Given the description of an element on the screen output the (x, y) to click on. 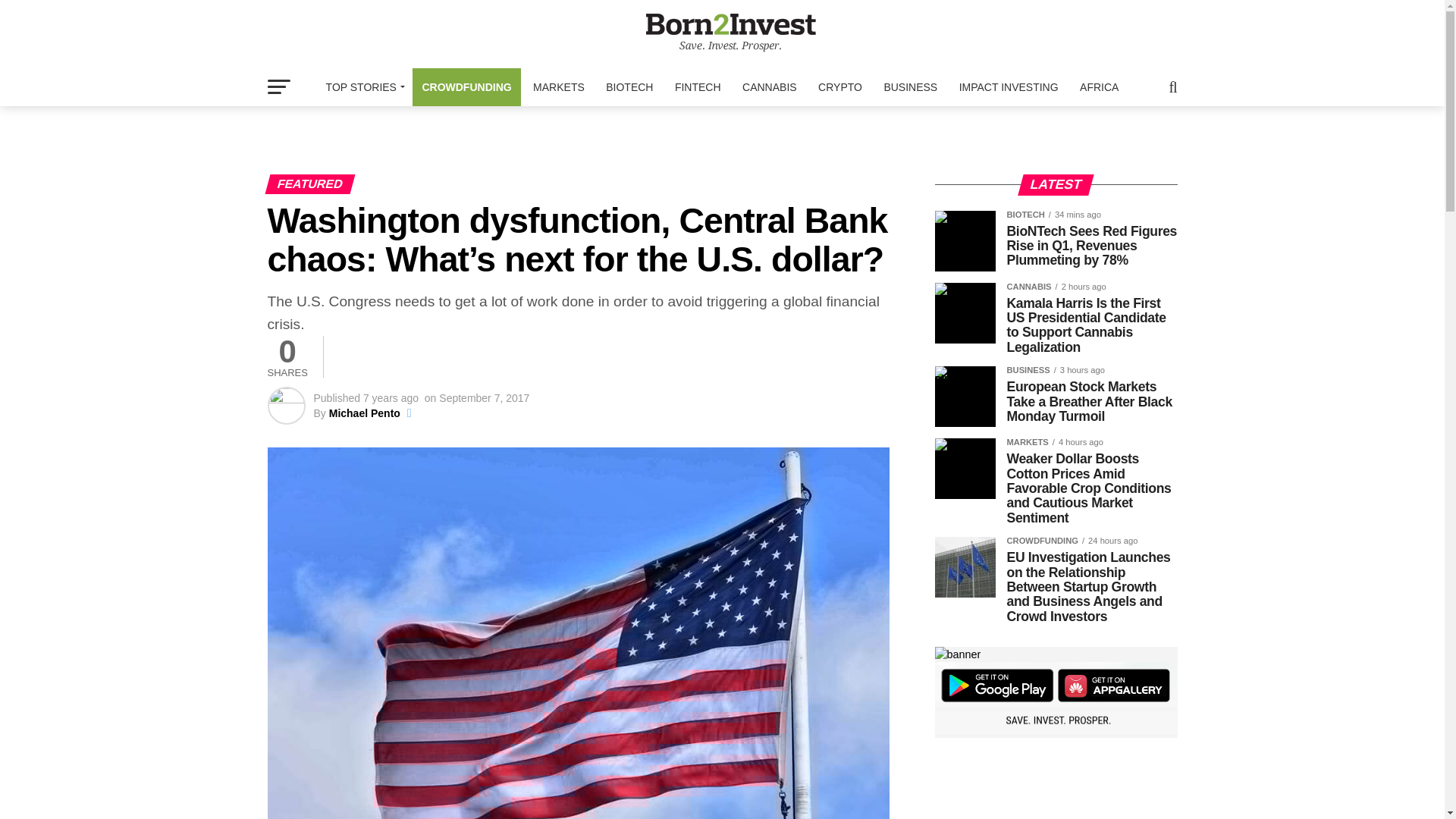
Michael Pento (364, 413)
MARKETS (559, 86)
CROWDFUNDING (465, 86)
CRYPTO (839, 86)
TOP STORIES (363, 86)
AFRICA (1098, 86)
Posts by Michael Pento (364, 413)
FINTECH (697, 86)
BIOTECH (629, 86)
IMPACT INVESTING (1008, 86)
CANNABIS (769, 86)
BUSINESS (910, 86)
